Given the description of an element on the screen output the (x, y) to click on. 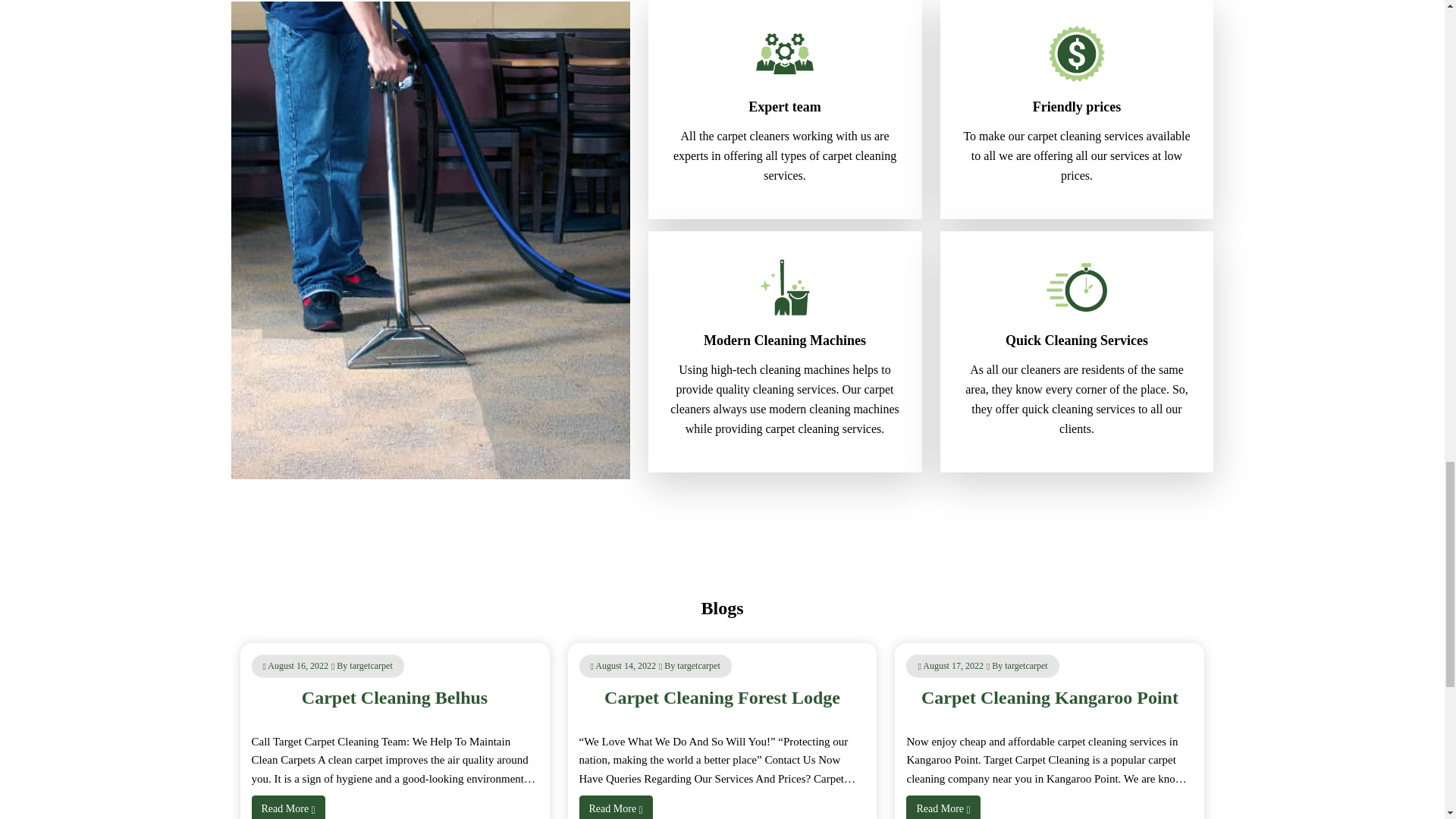
Carpet Cleaning Kangaroo Point (1049, 697)
Carpet Cleaning Kangaroo Point (1049, 697)
Carpet Cleaning Belhus (394, 697)
Read More (287, 807)
Carpet Cleaning Forest Lodge (722, 697)
Carpet Cleaning Forest Lodge (722, 697)
Read More (942, 807)
Read More (615, 807)
Carpet Cleaning Belhus (394, 697)
